Given the description of an element on the screen output the (x, y) to click on. 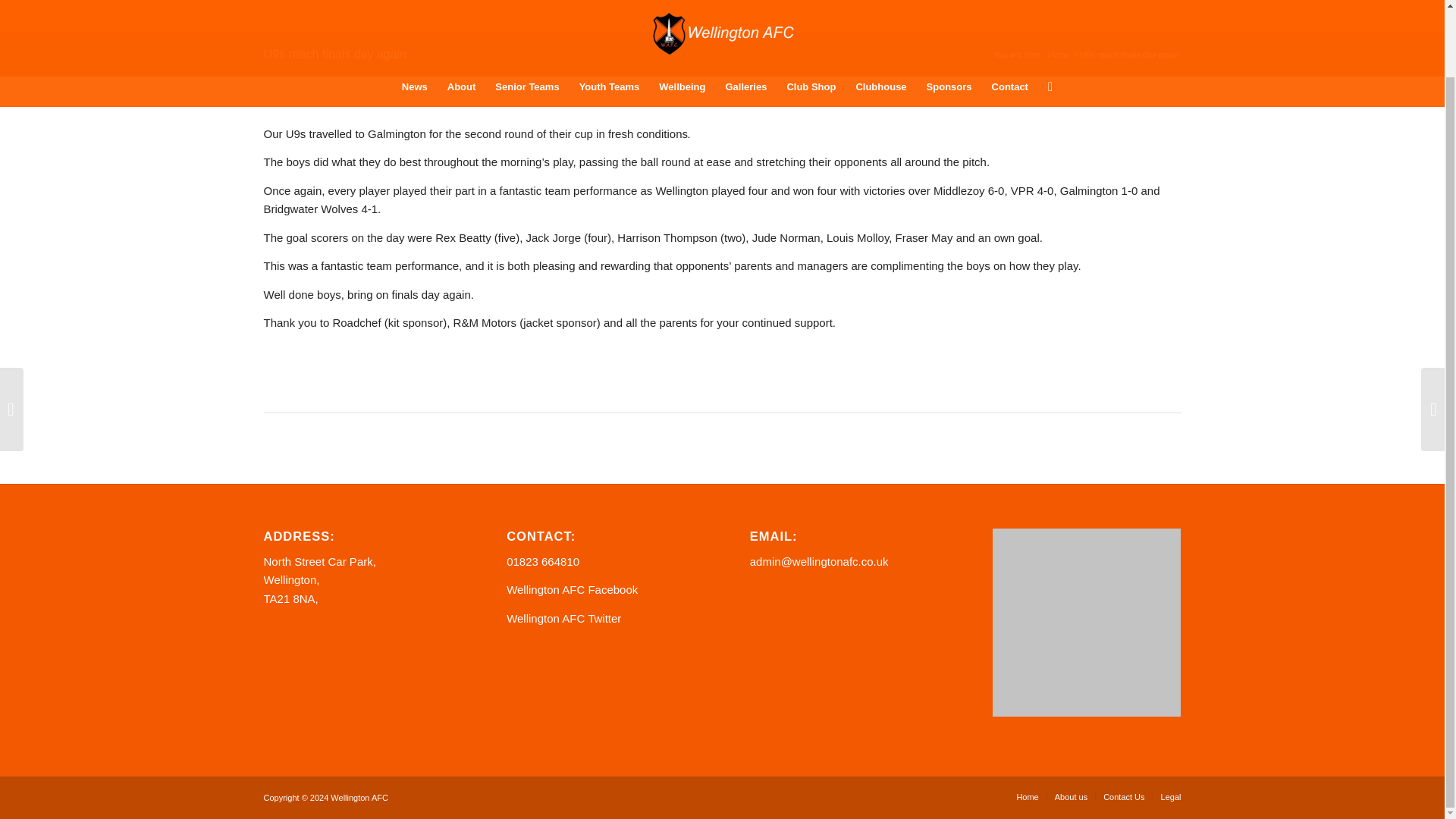
Clubhouse (880, 16)
U9s reach finals day again (335, 53)
Senior Teams (526, 16)
Contact (1009, 16)
About (462, 16)
Wellington AFC (1058, 54)
News (414, 16)
Permanent Link: U9s reach finals day again (335, 53)
Sponsors (949, 16)
Club Shop (810, 16)
Wellbeing (681, 16)
Youth Teams (609, 16)
Galleries (745, 16)
